Given the description of an element on the screen output the (x, y) to click on. 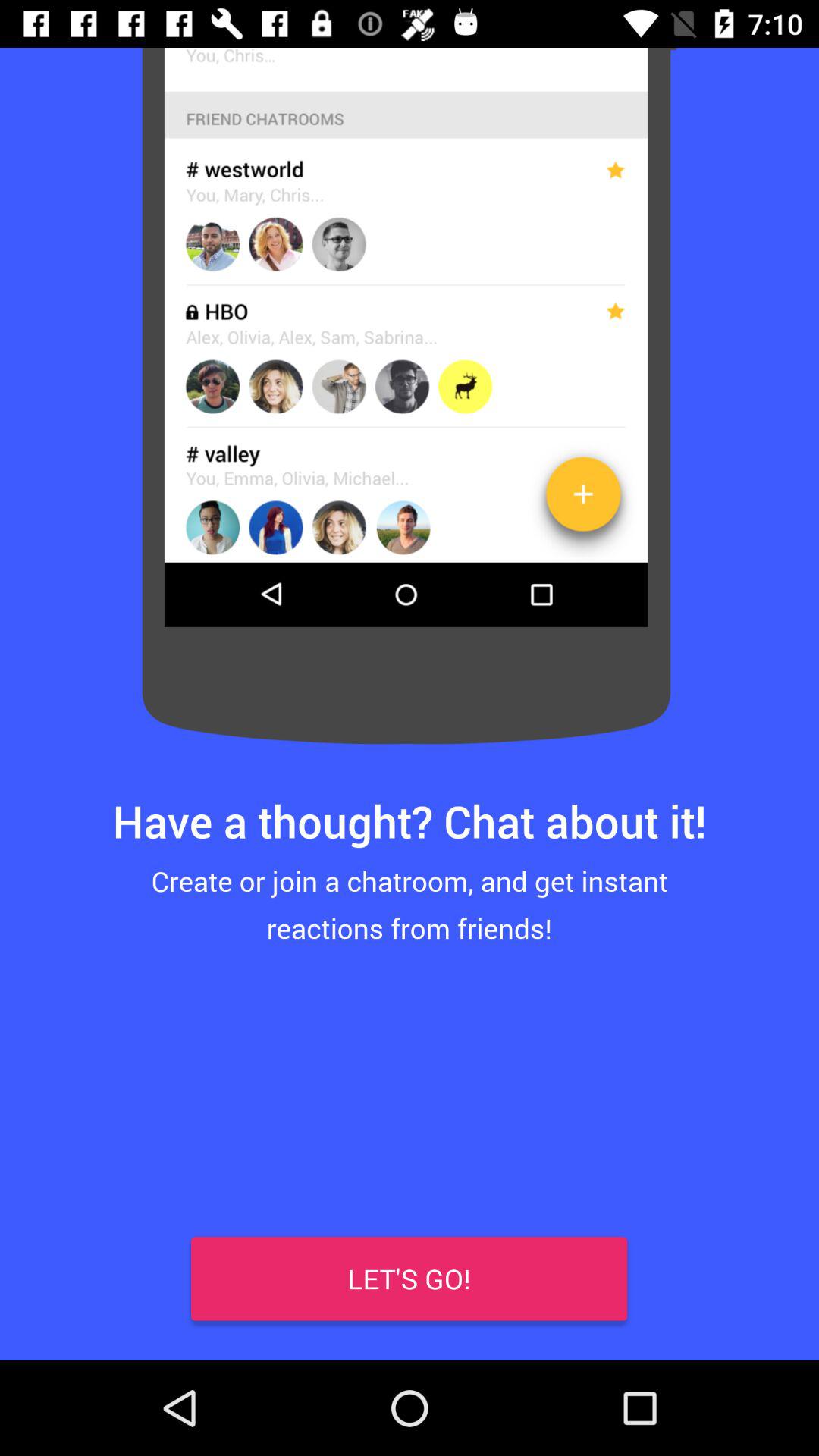
click item at the bottom left corner (47, 1312)
